Given the description of an element on the screen output the (x, y) to click on. 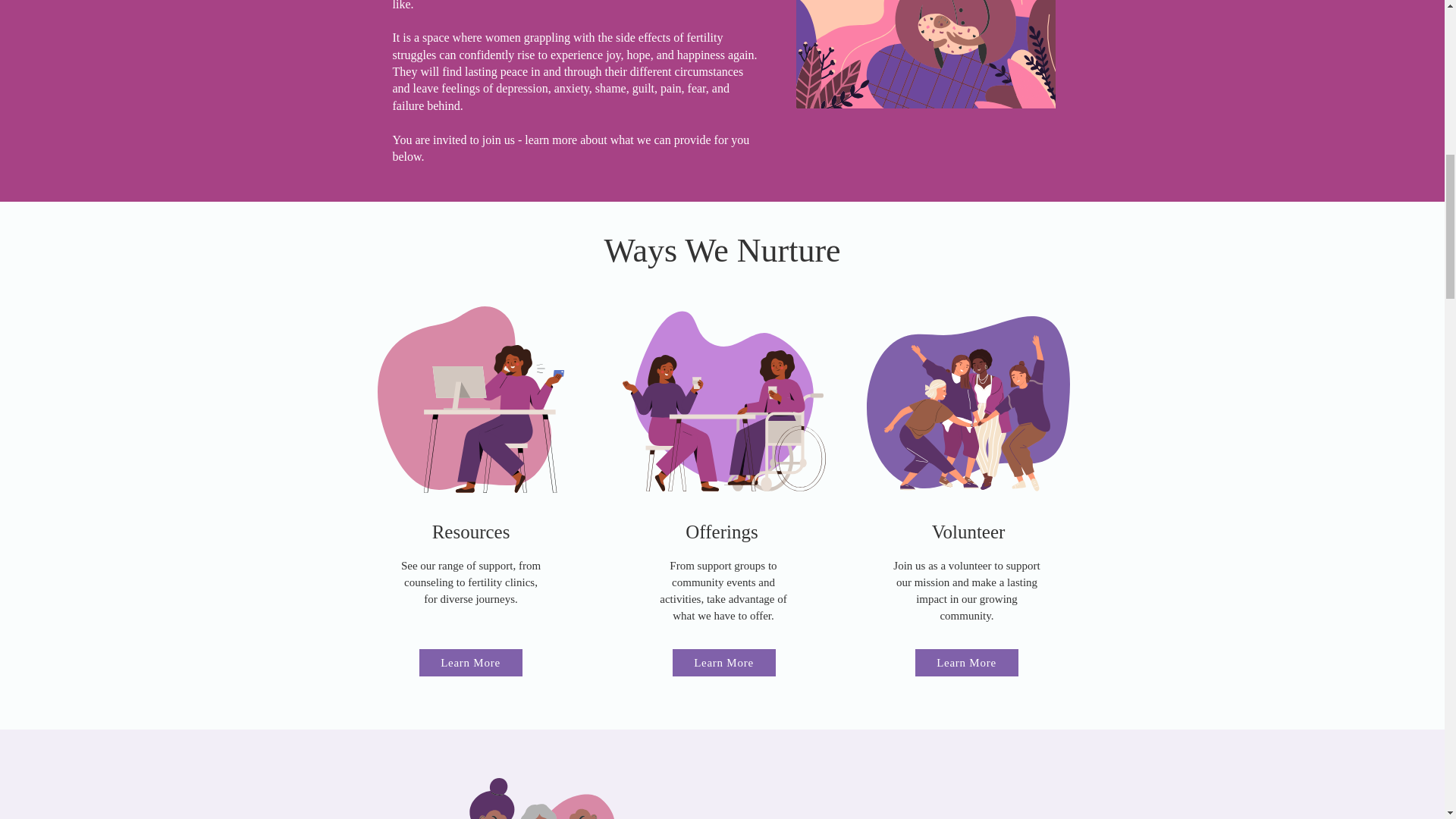
Learn More (965, 662)
Learn More (470, 662)
Learn More (722, 662)
